Given the description of an element on the screen output the (x, y) to click on. 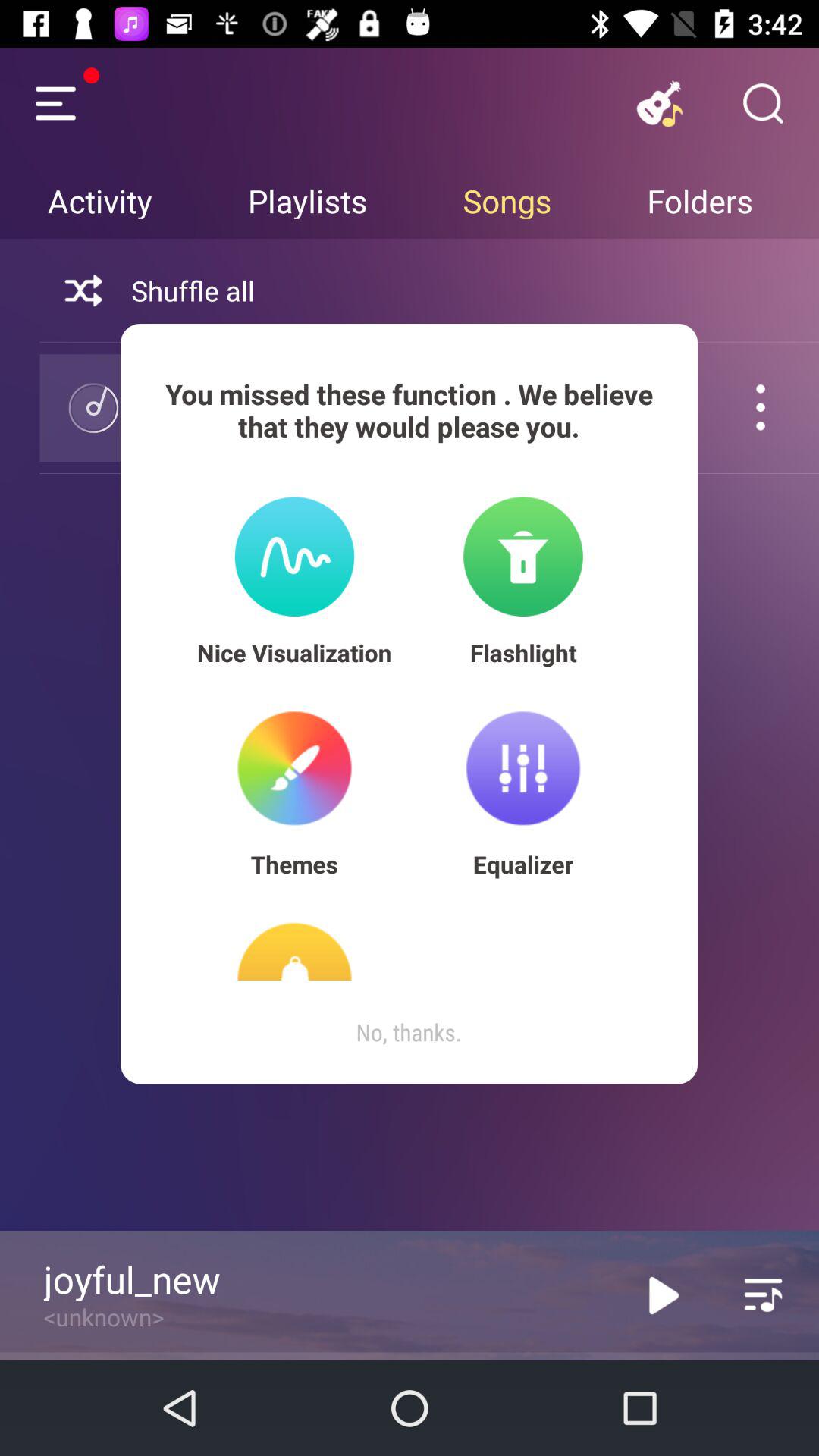
launch the icon to the left of flashlight item (294, 652)
